Given the description of an element on the screen output the (x, y) to click on. 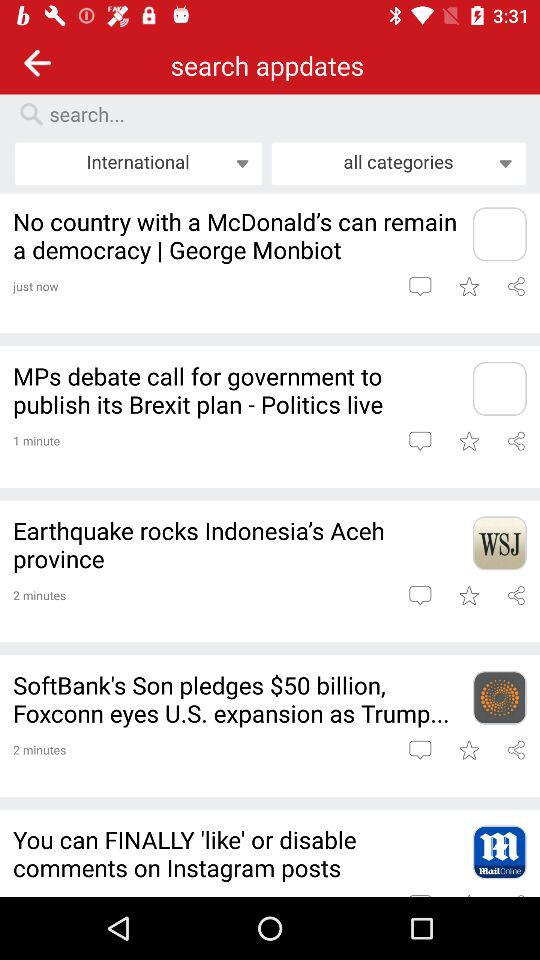
press the international (138, 163)
